Given the description of an element on the screen output the (x, y) to click on. 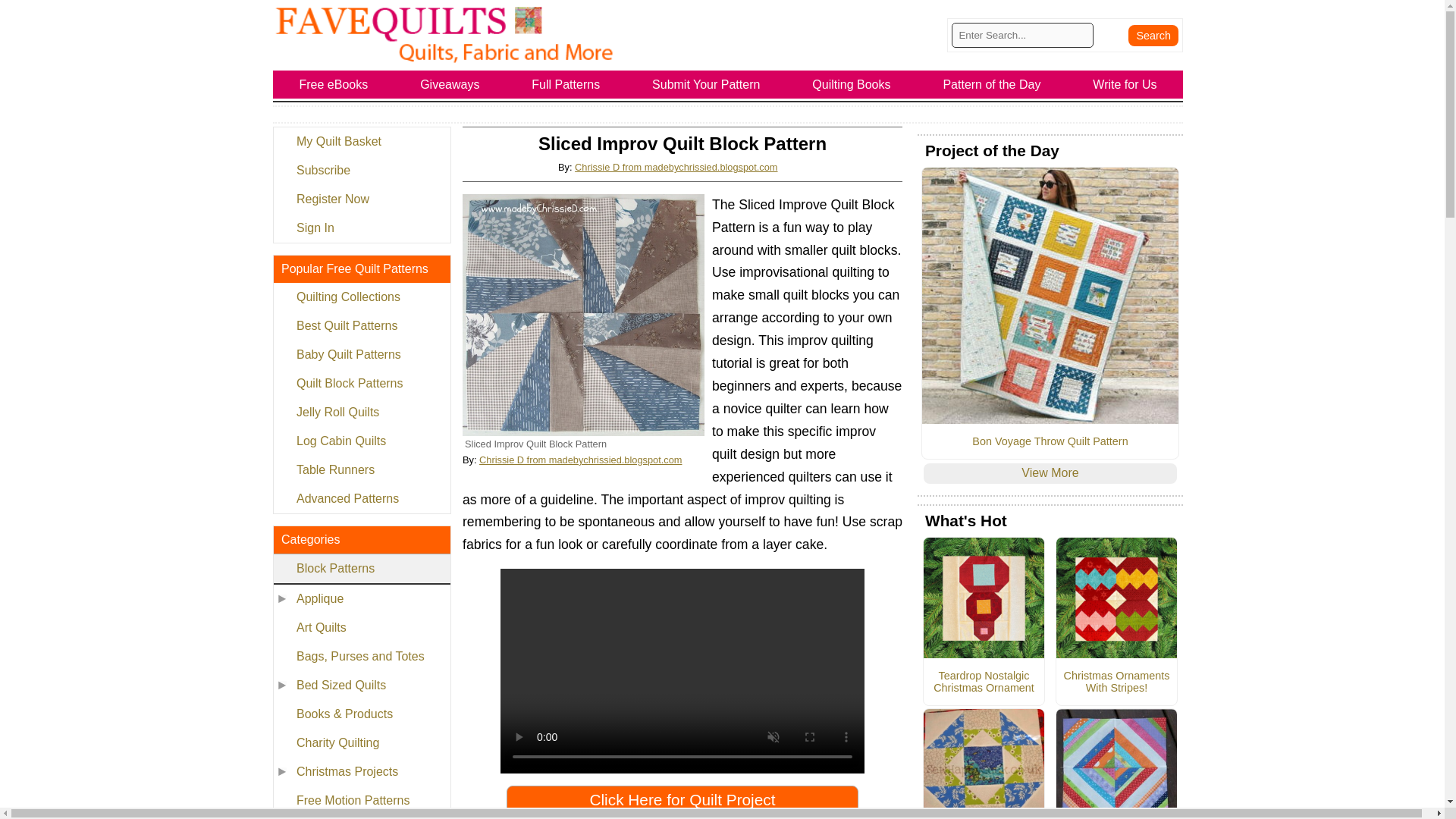
My Quilt Basket (361, 141)
Subscribe (361, 170)
Search (1152, 35)
Register Now (361, 199)
Sliced Improv Quilt Block Pattern (583, 314)
Sign In (361, 227)
